Given the description of an element on the screen output the (x, y) to click on. 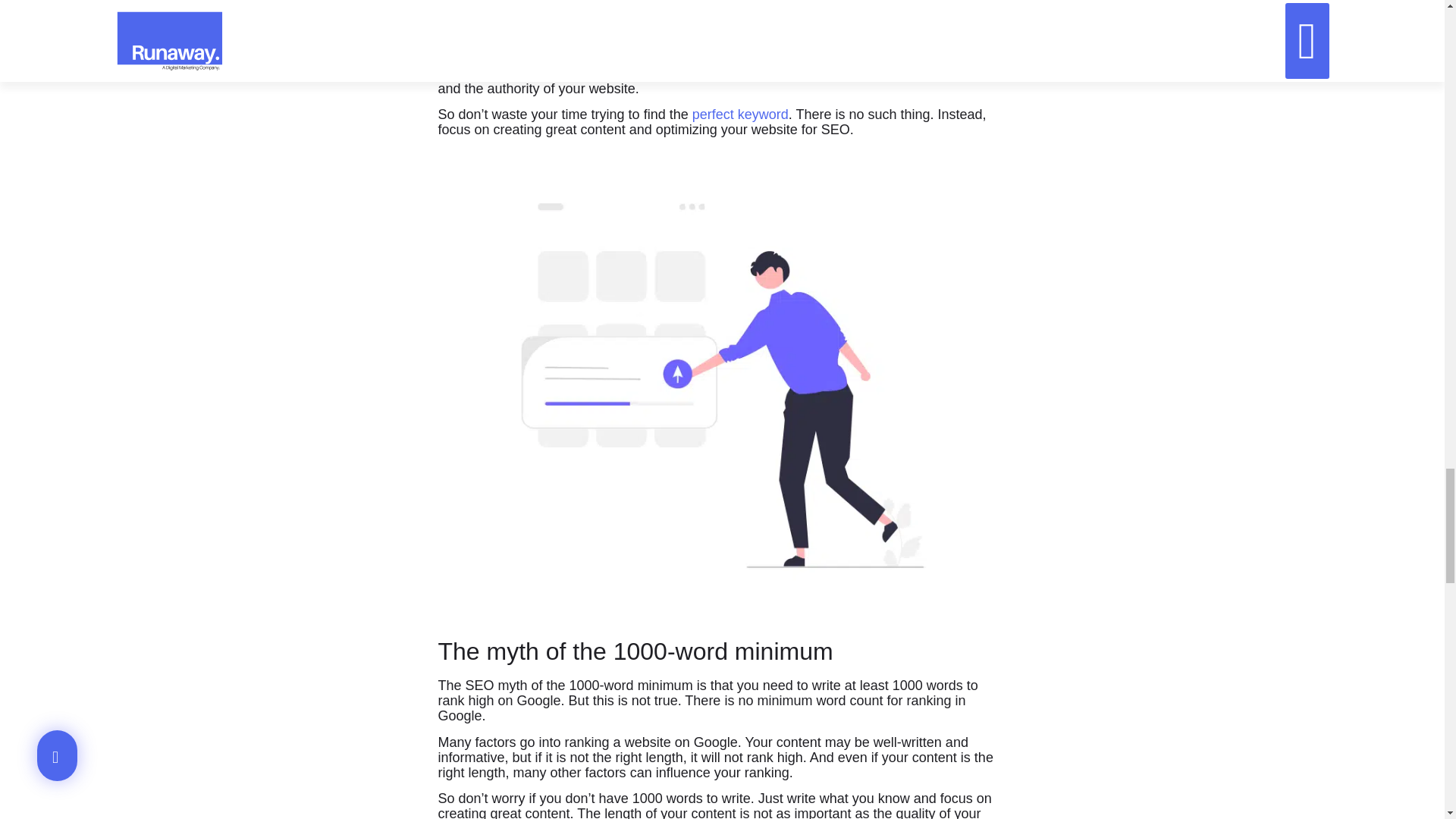
perfect keyword (741, 114)
